Given the description of an element on the screen output the (x, y) to click on. 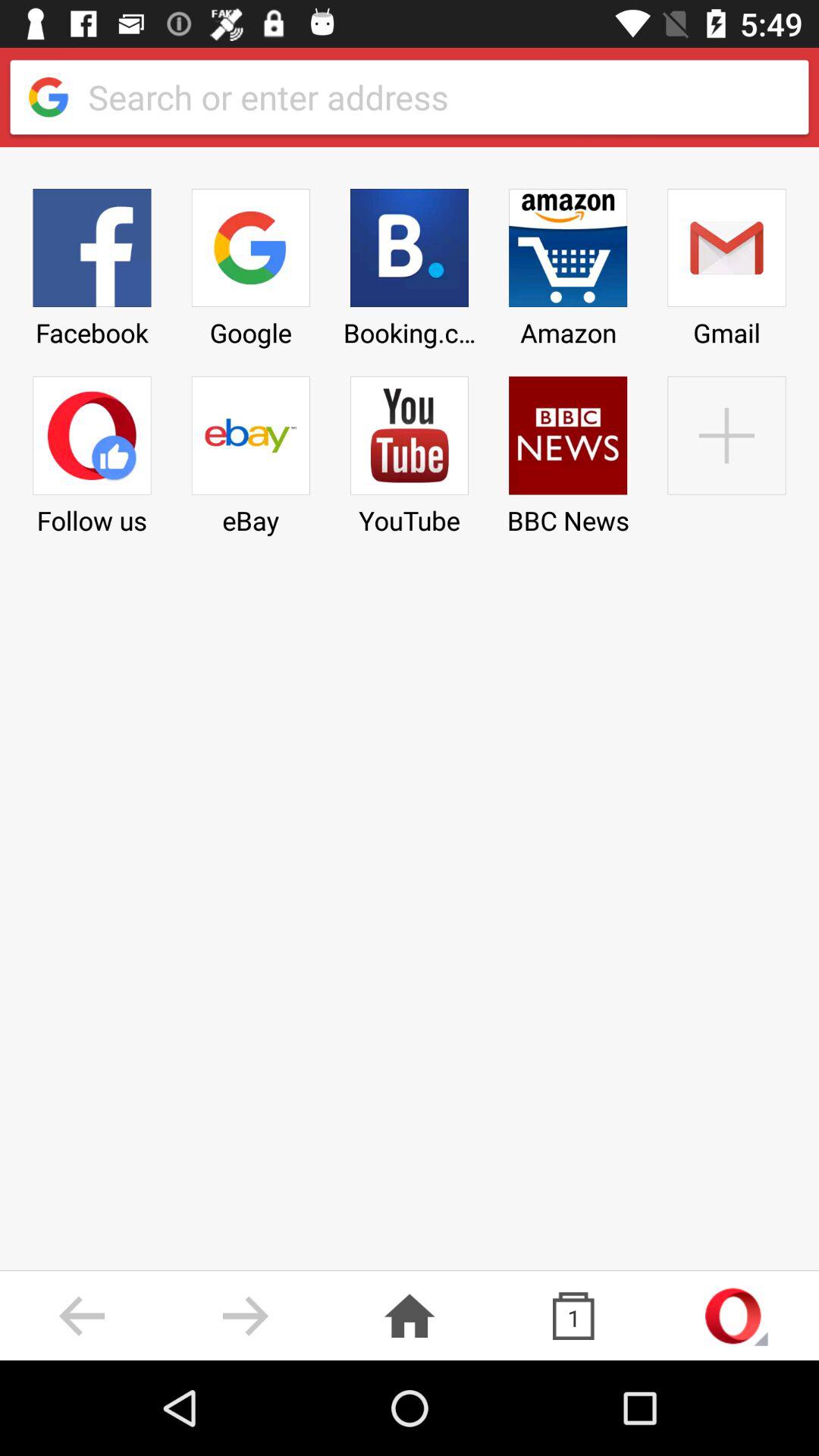
add new bookmark (726, 450)
